Given the description of an element on the screen output the (x, y) to click on. 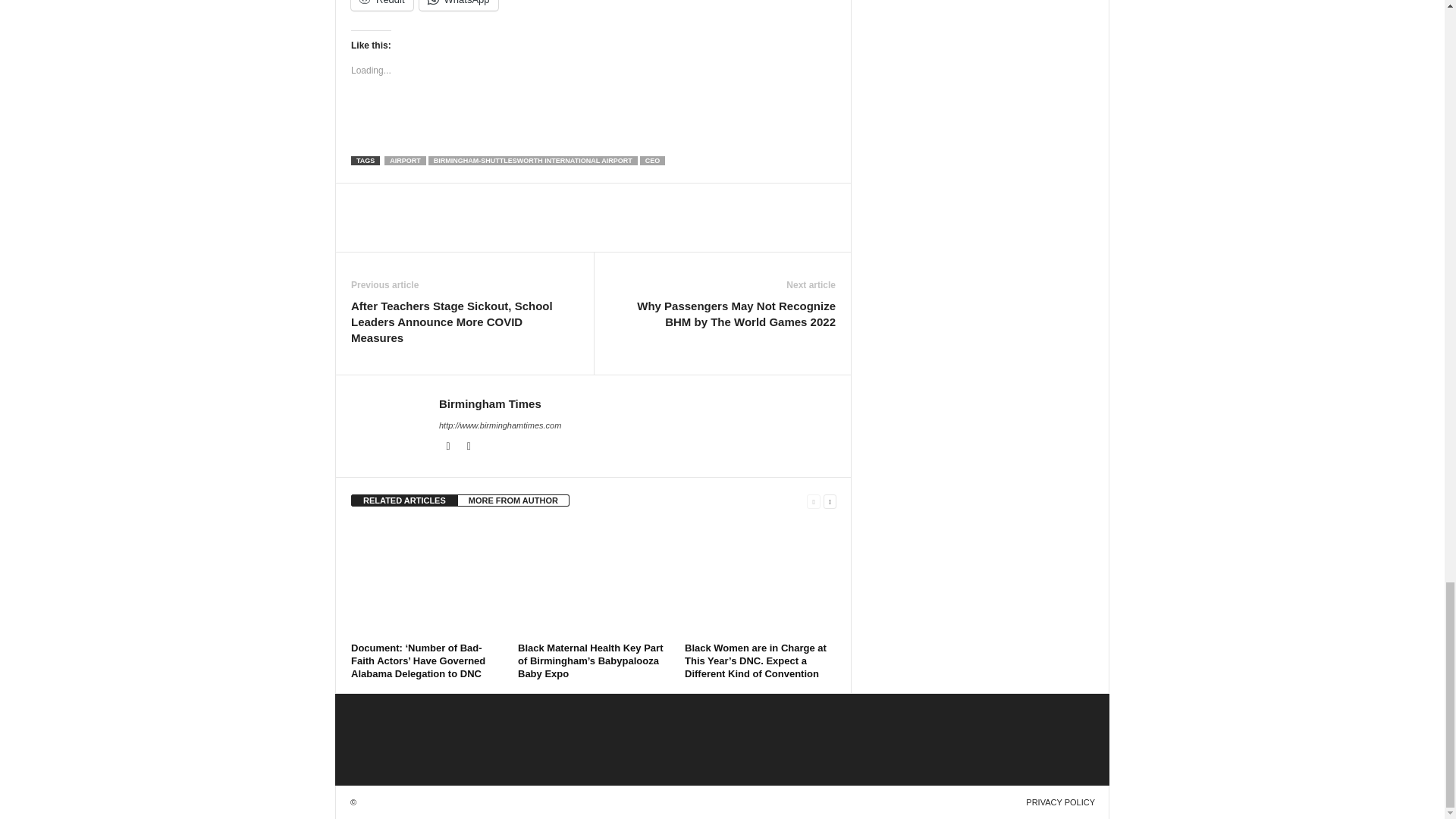
Click to share on Reddit (381, 5)
Click to share on WhatsApp (458, 5)
Like or Reblog (592, 123)
